Given the description of an element on the screen output the (x, y) to click on. 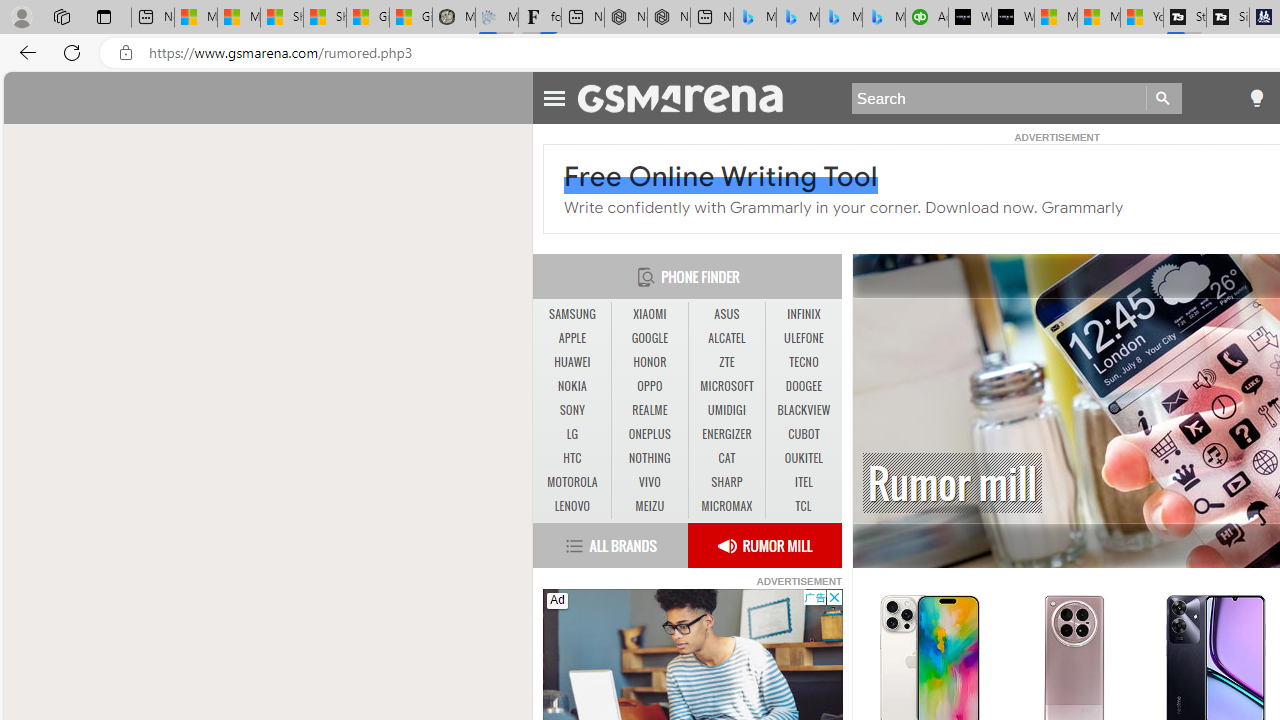
ONEPLUS (649, 434)
ULEFONE (803, 339)
REALME (649, 411)
GOOGLE (649, 338)
MICROMAX (726, 506)
Nordace - #1 Japanese Best-Seller - Siena Smart Backpack (668, 17)
Toggle Navigation (553, 95)
BLACKVIEW (803, 410)
ALCATEL (726, 338)
SAMSUNG (571, 314)
HUAWEI (571, 362)
